Given the description of an element on the screen output the (x, y) to click on. 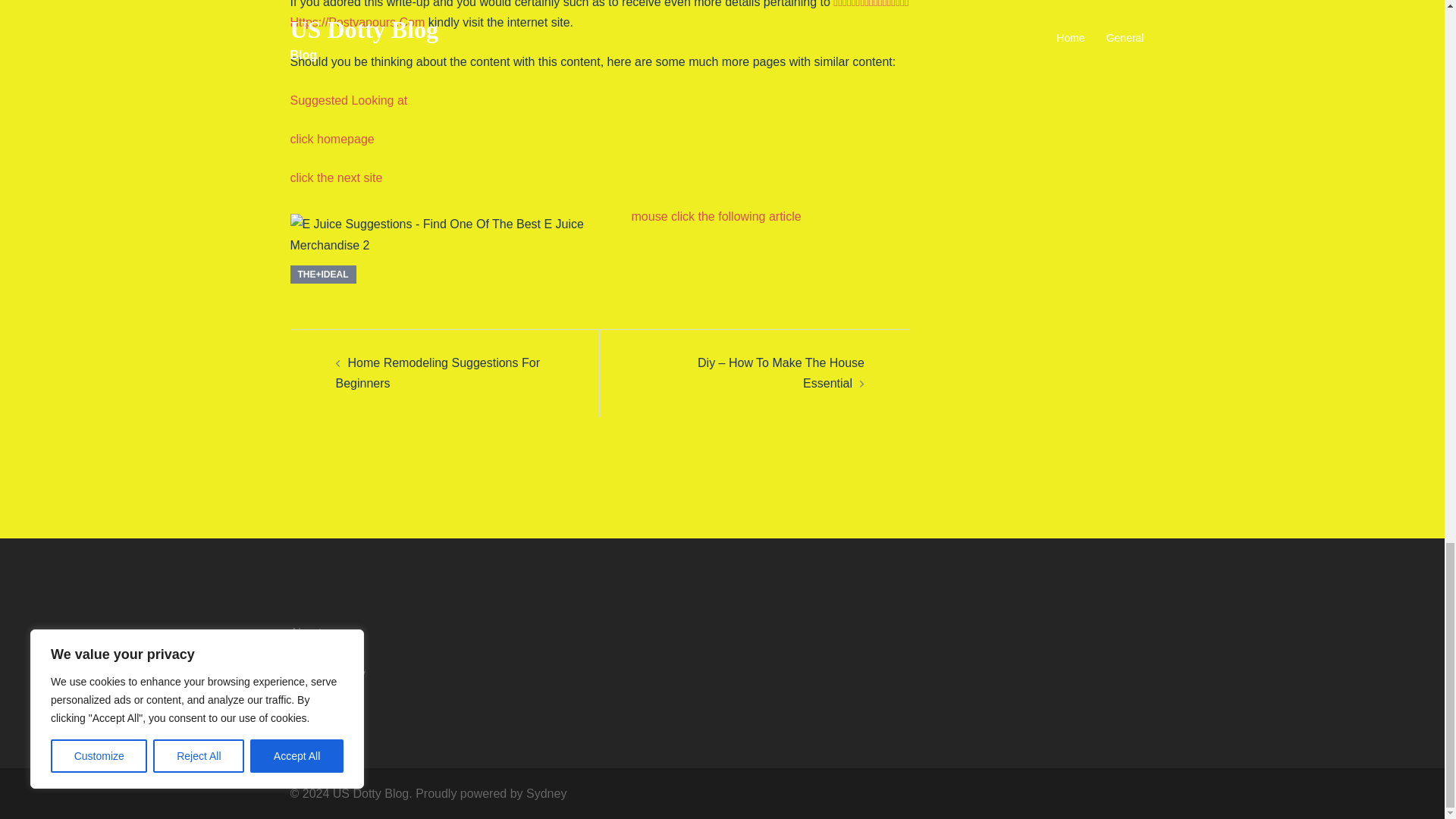
mouse click the following article (715, 215)
Home Remodeling Suggestions For Beginners (436, 372)
click the next site (335, 177)
click homepage (331, 138)
Suggested Looking at (348, 100)
